Given the description of an element on the screen output the (x, y) to click on. 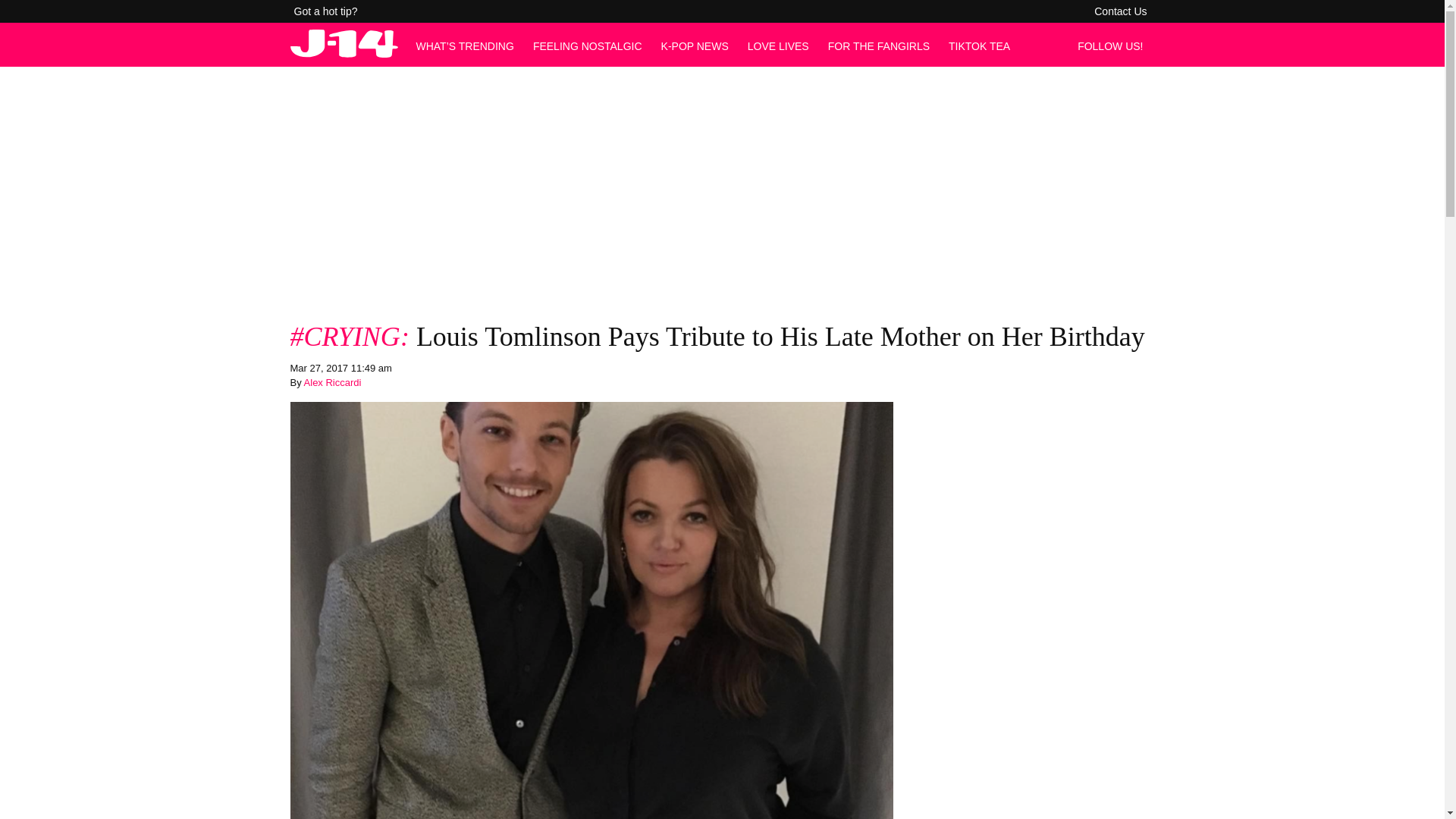
Home (343, 52)
LOVE LIVES (778, 46)
Got a hot tip? (325, 11)
Alex Riccardi (332, 382)
FOLLOW US! (1114, 45)
FOR THE FANGIRLS (879, 46)
Contact Us (1120, 11)
FEELING NOSTALGIC (587, 46)
Posts by Alex Riccardi (332, 382)
K-POP NEWS (695, 46)
TIKTOK TEA (979, 46)
